Given the description of an element on the screen output the (x, y) to click on. 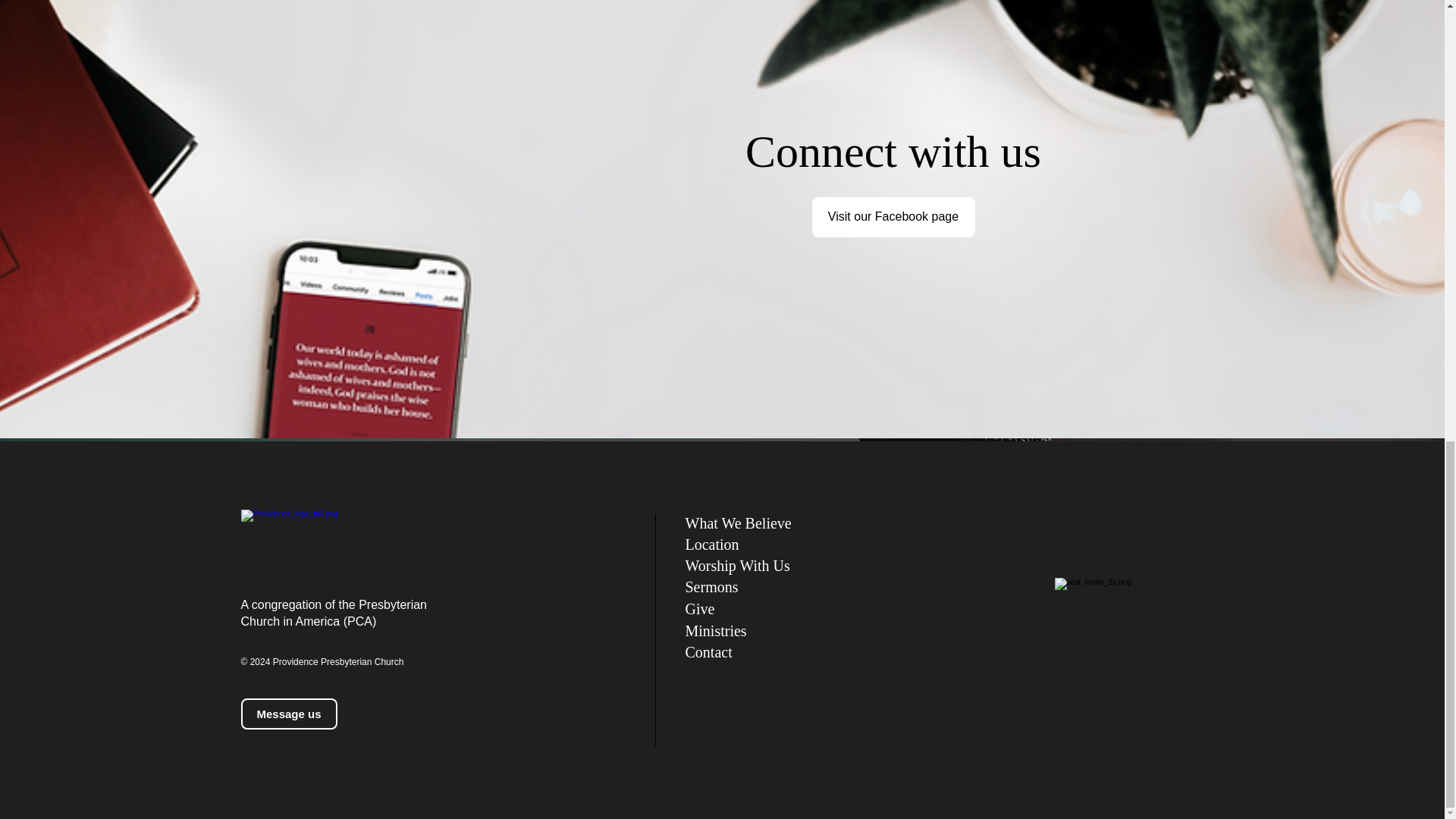
Give (699, 608)
Sermons (711, 586)
Ministries (715, 630)
Message us (289, 713)
Worship With Us (737, 565)
What We Believe (738, 523)
Visit our Facebook page (892, 217)
Location (712, 544)
Contact (708, 651)
